Given the description of an element on the screen output the (x, y) to click on. 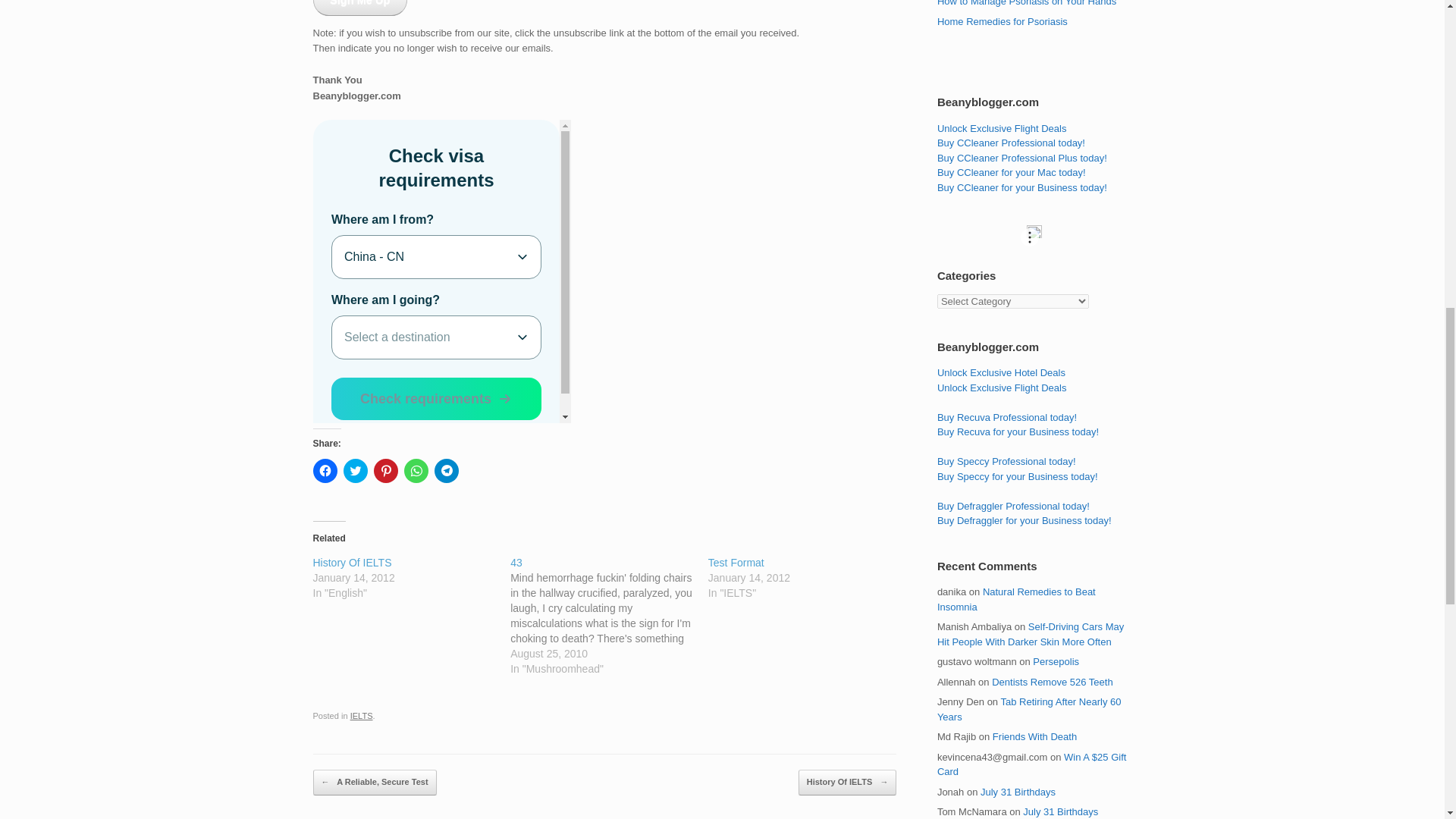
Click to share on WhatsApp (415, 470)
Click to share on Facebook (324, 470)
43 (609, 615)
History Of IELTS (352, 562)
Click to share on Pinterest (384, 470)
43 (516, 562)
Click to share on Twitter (354, 470)
History Of IELTS (412, 577)
Sign Me Up (360, 7)
Click to share on Telegram (445, 470)
